Given the description of an element on the screen output the (x, y) to click on. 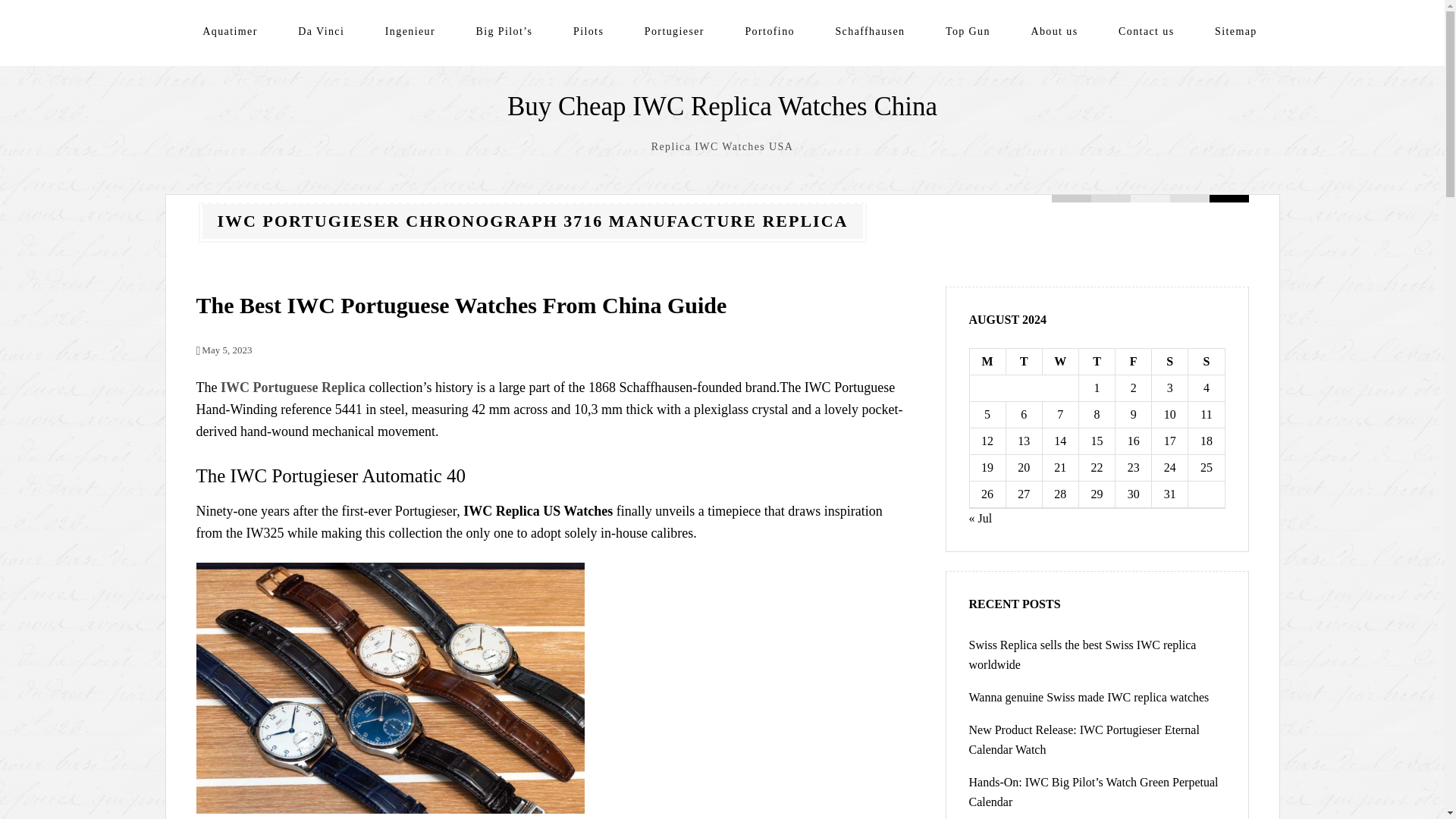
Pilots (588, 31)
3:37 am (223, 349)
Schaffhausen (869, 31)
Portugieser (674, 31)
9 (1133, 414)
May 5, 2023 (223, 349)
Portofino (769, 31)
The Best IWC Portuguese Watches From China Guide (460, 304)
About us (1053, 31)
Thursday (1096, 361)
